Given the description of an element on the screen output the (x, y) to click on. 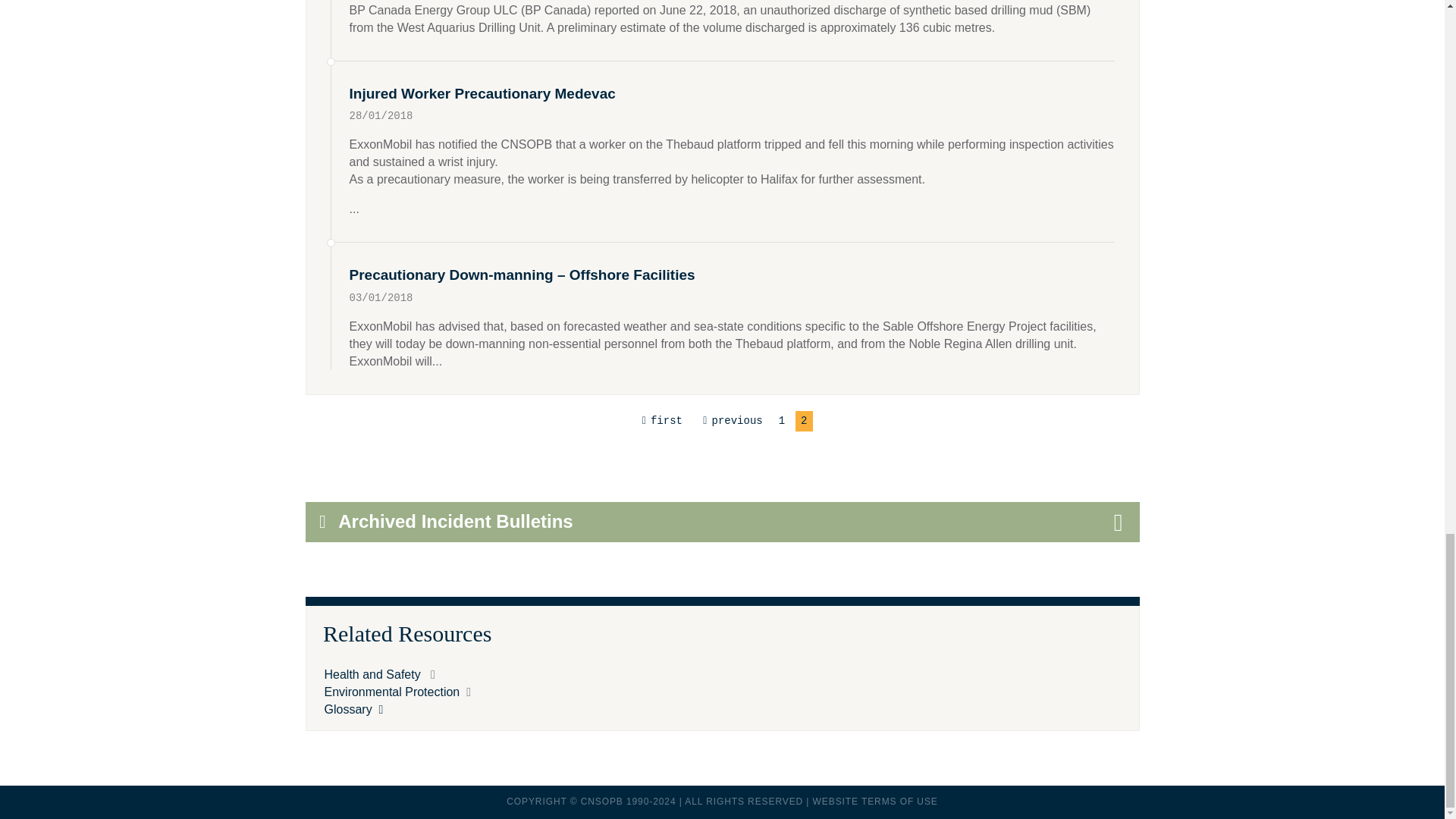
Go to first page (659, 421)
Go to previous page (730, 421)
